Given the description of an element on the screen output the (x, y) to click on. 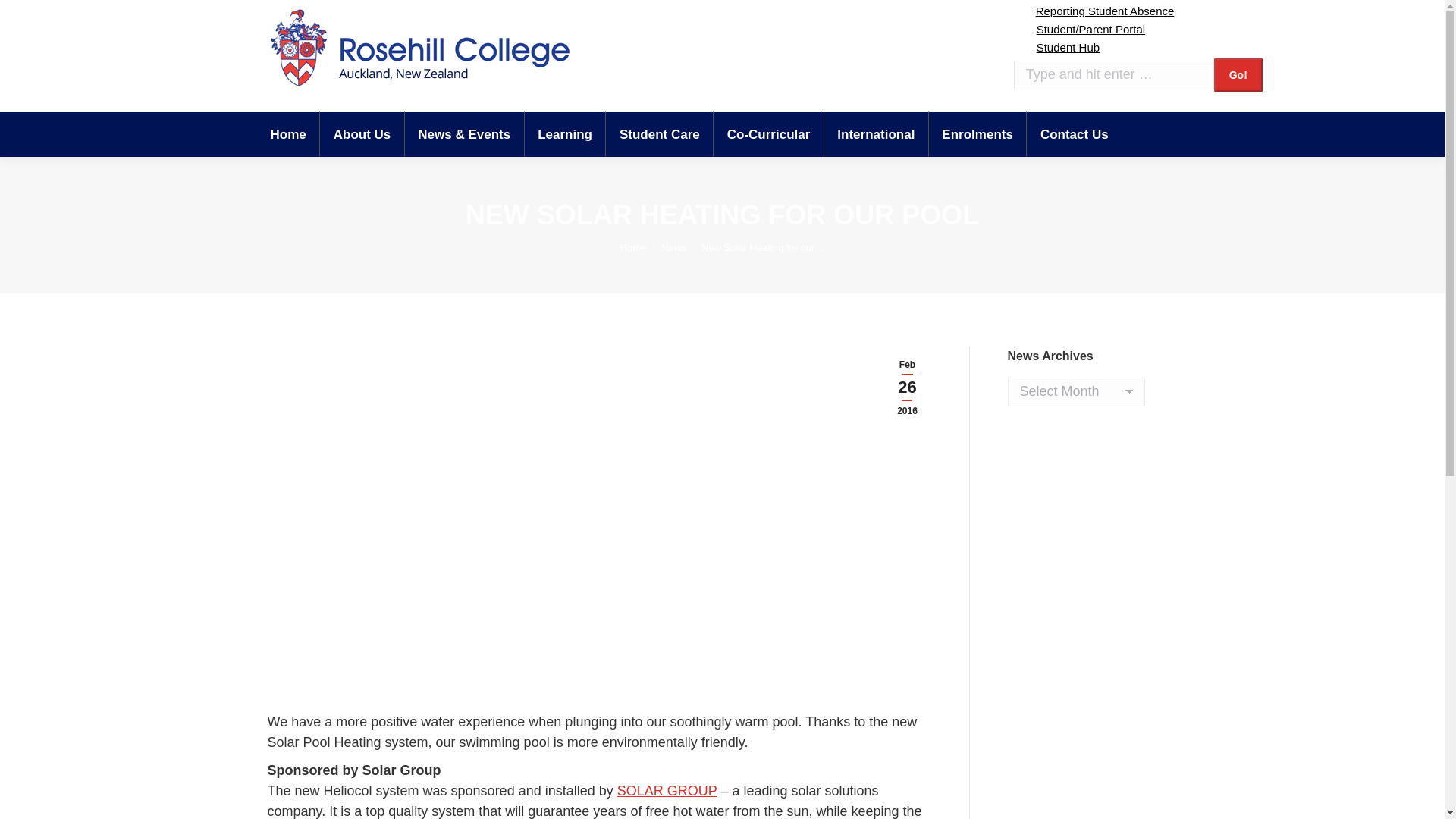
About Us (362, 133)
Student Care (659, 133)
Student Hub (1056, 47)
Reporting Student Absence (1093, 10)
Go! (1238, 74)
Home (633, 246)
Go! (1238, 74)
Home (287, 133)
Learning (564, 133)
News (673, 246)
